Given the description of an element on the screen output the (x, y) to click on. 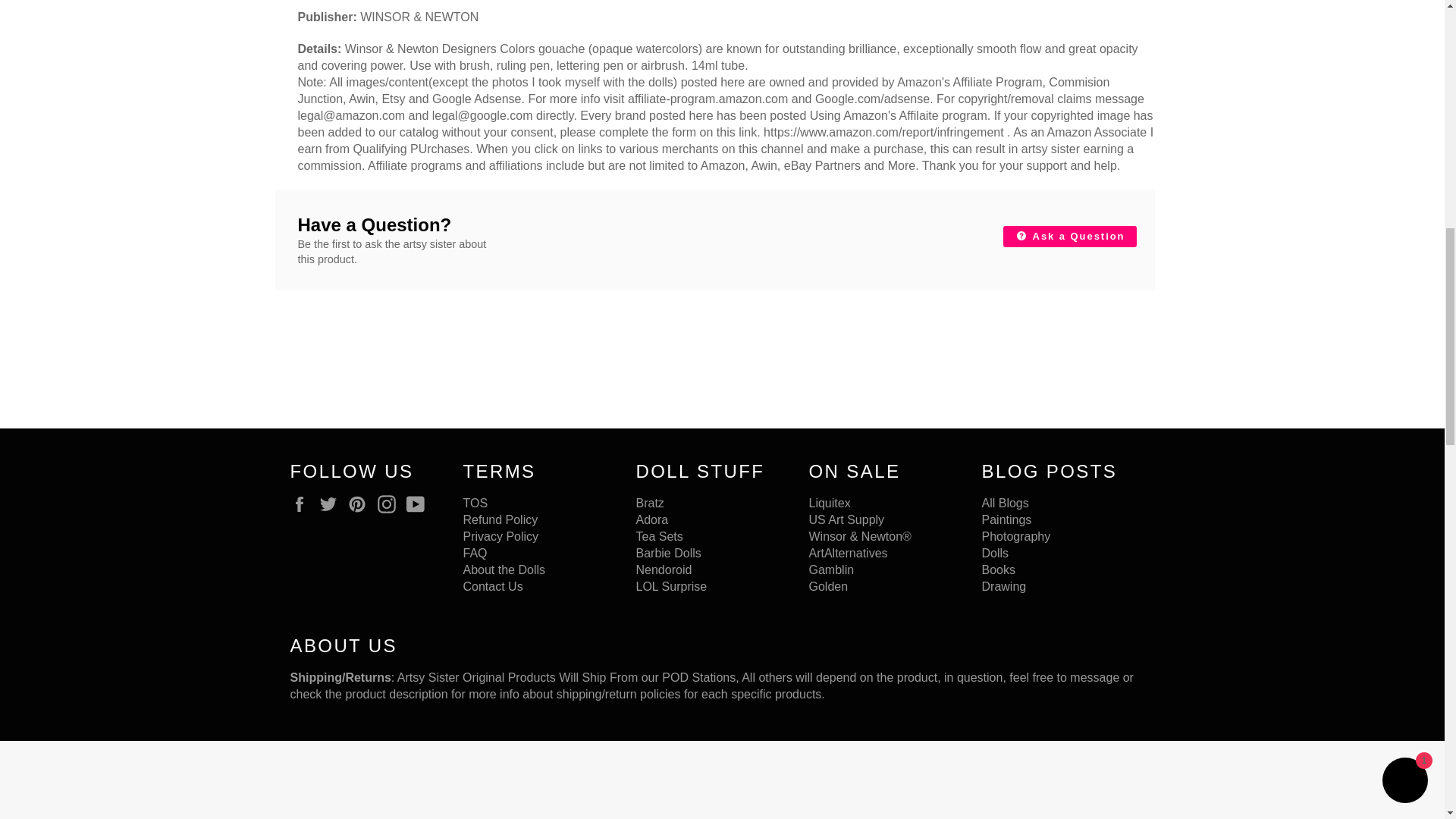
Created with Snap (568, 780)
Created with Snap (340, 780)
Created with Snap (1251, 780)
Created with Snap (796, 780)
Artsy Sister - Art Supplies on Twitter (331, 504)
Created with Snap (113, 780)
Created with Snap (1023, 780)
Artsy Sister - Art Supplies on Facebook (302, 504)
